Given the description of an element on the screen output the (x, y) to click on. 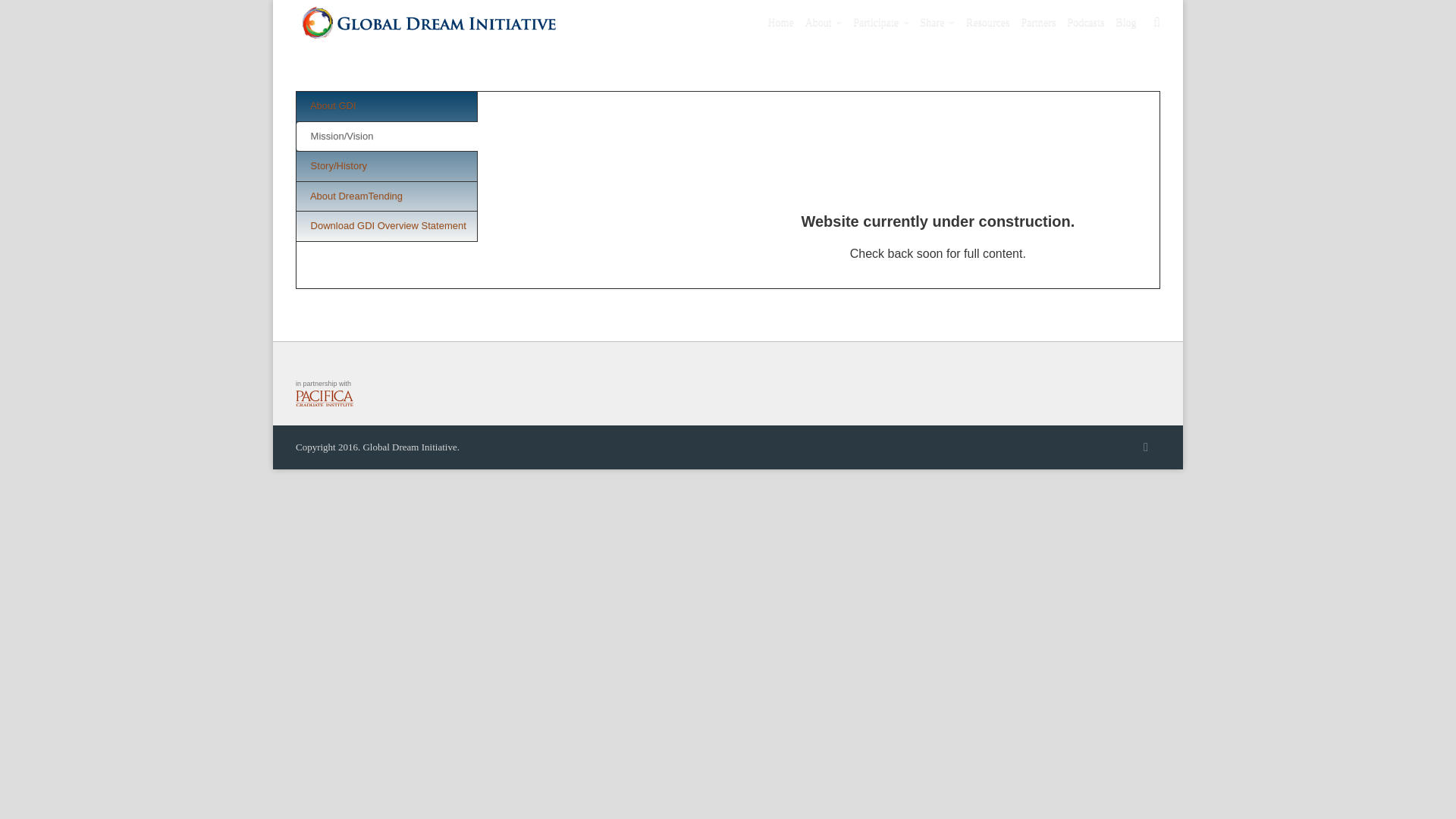
About GDI (387, 106)
About (823, 23)
Download GDI Overview Statement (387, 225)
About DreamTending (387, 196)
Home (780, 23)
